Given the description of an element on the screen output the (x, y) to click on. 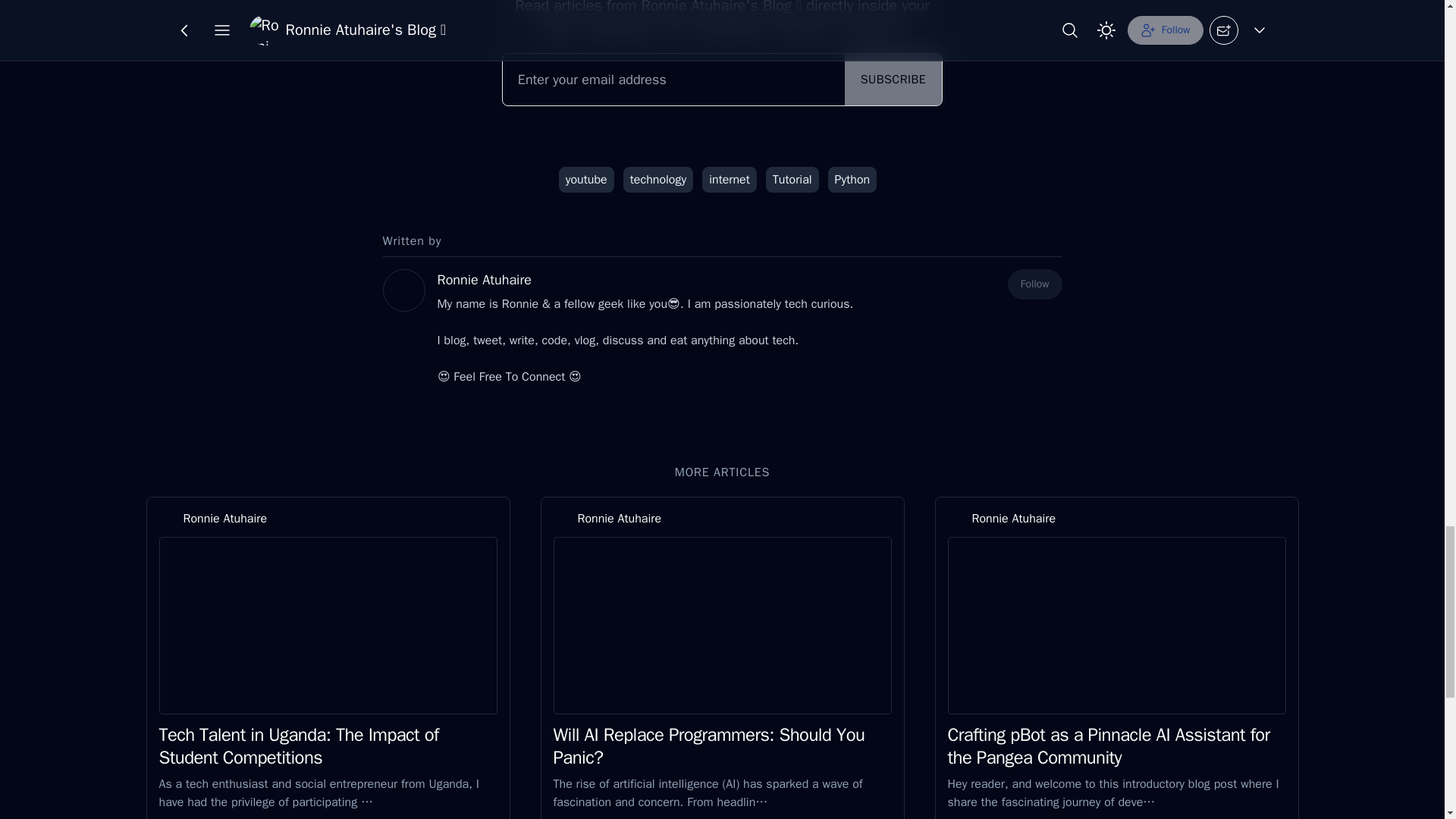
SUBSCRIBE (893, 79)
youtube (586, 179)
Tutorial (791, 179)
internet (729, 179)
technology (658, 179)
